Given the description of an element on the screen output the (x, y) to click on. 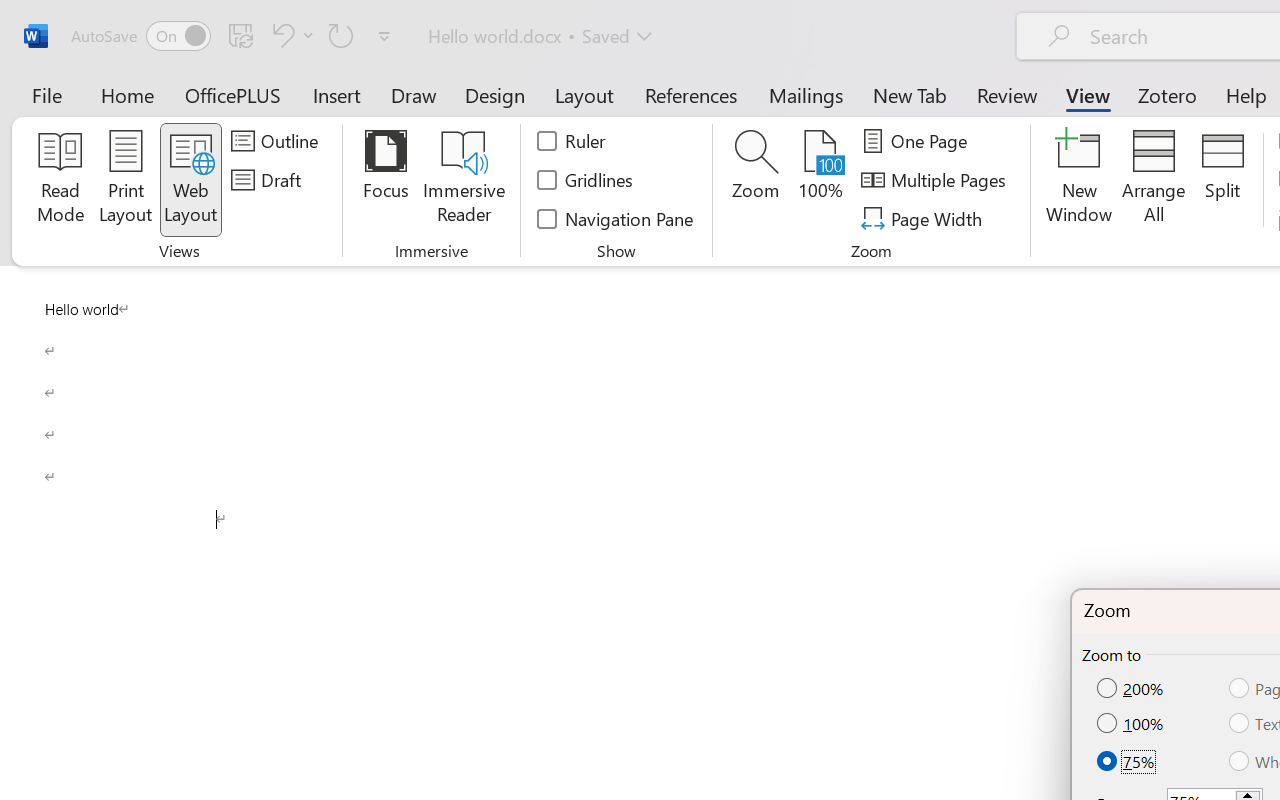
Save as Show (539, 114)
Preview (30, 114)
From Beginning... (158, 114)
From Current Slide... (224, 114)
